Given the description of an element on the screen output the (x, y) to click on. 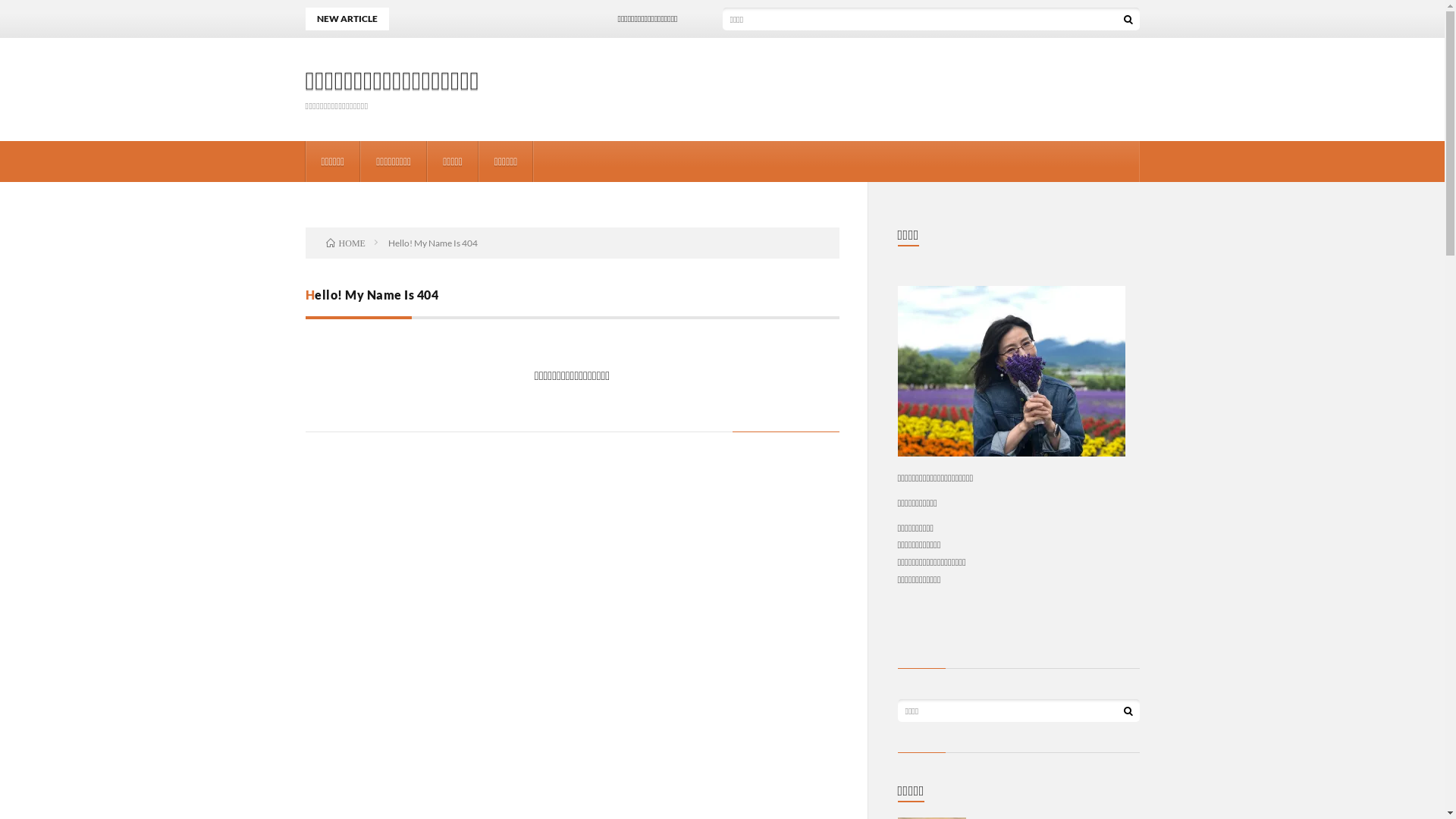
HOME Element type: text (345, 242)
search Element type: text (1127, 18)
search Element type: text (1127, 710)
